Given the description of an element on the screen output the (x, y) to click on. 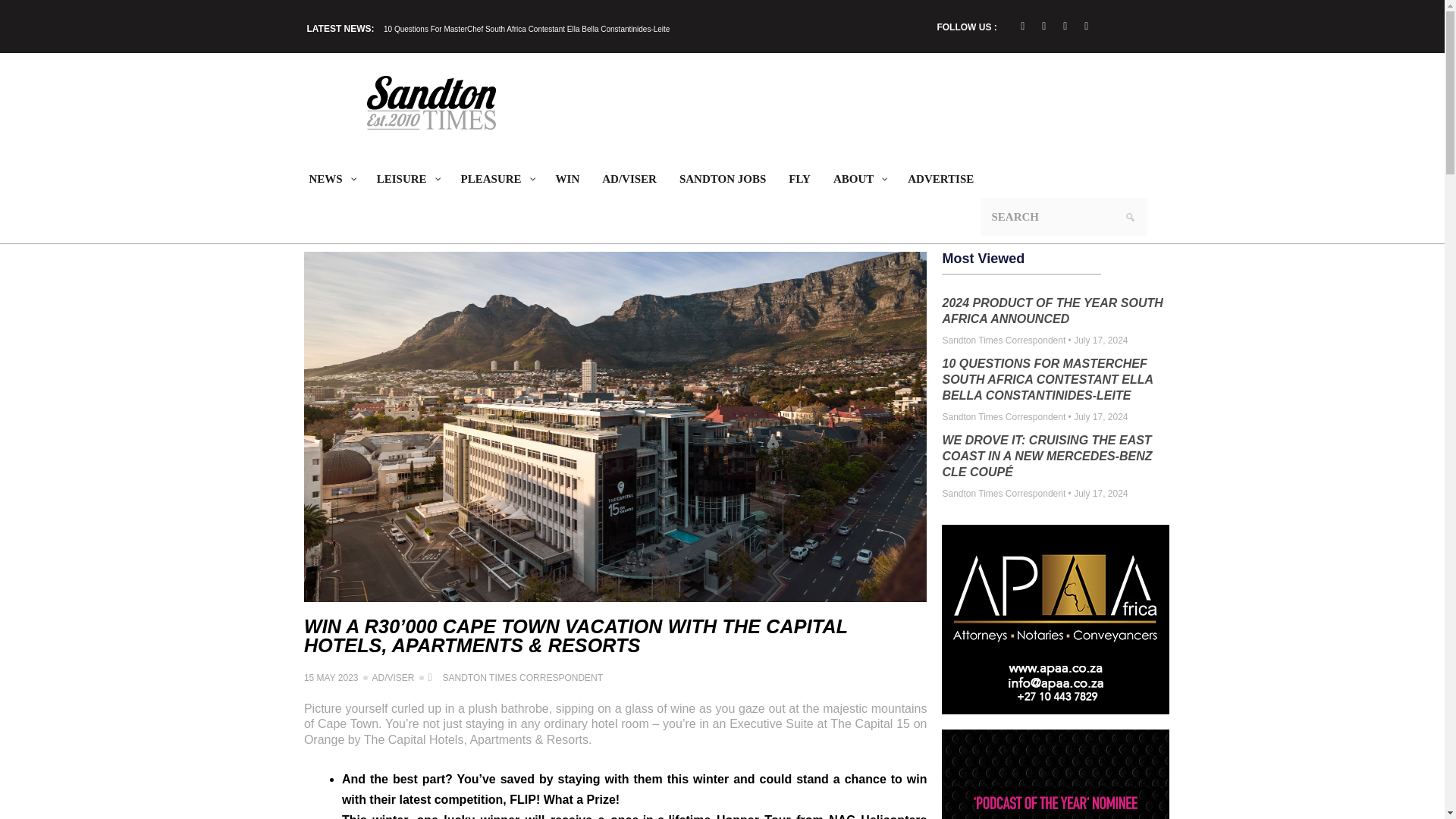
LEISURE (407, 178)
SANDTON JOBS (722, 178)
NEWS (331, 178)
PLEASURE (496, 178)
WIN (567, 178)
